Given the description of an element on the screen output the (x, y) to click on. 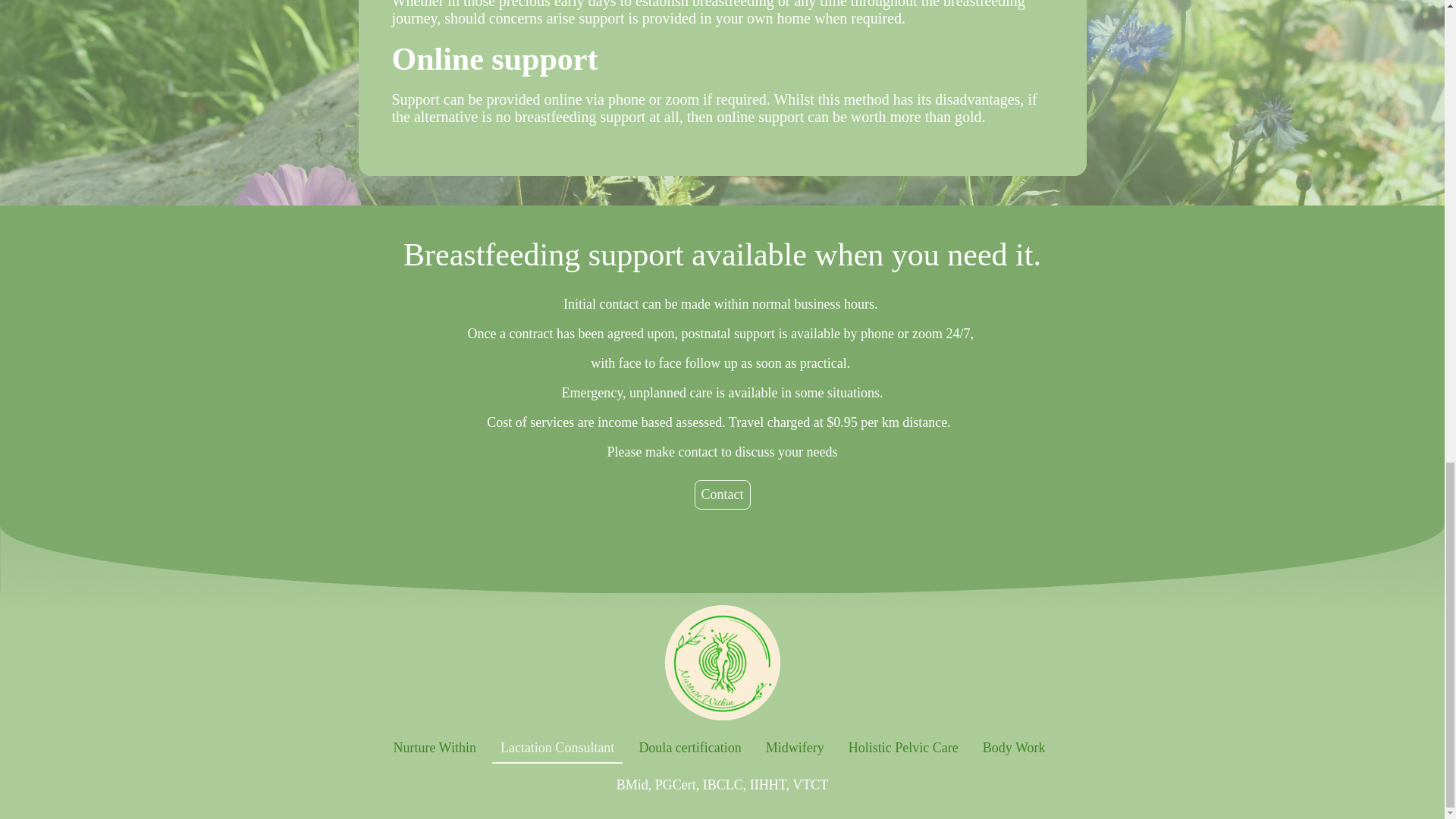
Body Work (1013, 747)
Nurture Within (434, 747)
Midwifery (794, 747)
Holistic Pelvic Care (903, 747)
Doula certification (689, 747)
Lactation Consultant (557, 747)
Contact (722, 494)
